Given the description of an element on the screen output the (x, y) to click on. 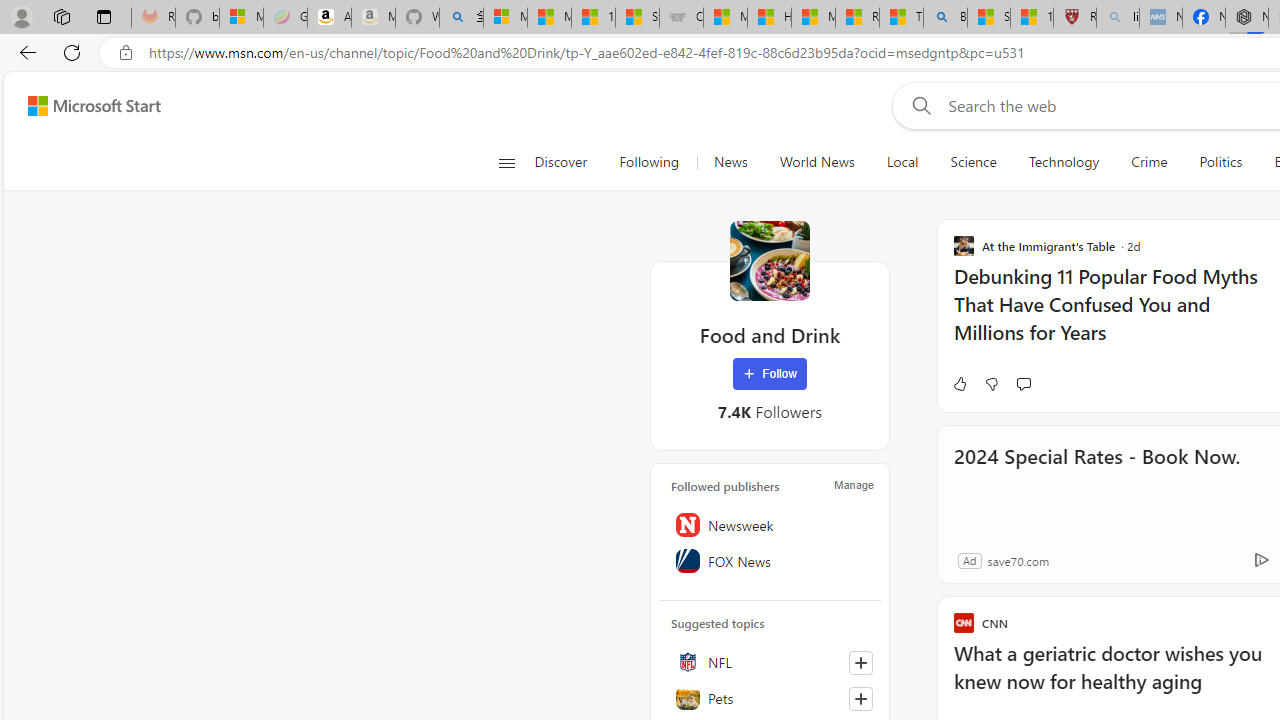
Newsweek (770, 525)
2024 Special Rates - Book Now. (1096, 484)
Like (959, 384)
How I Got Rid of Microsoft Edge's Unnecessary Features (769, 17)
Food and Drink (769, 260)
Bing (945, 17)
